Given the description of an element on the screen output the (x, y) to click on. 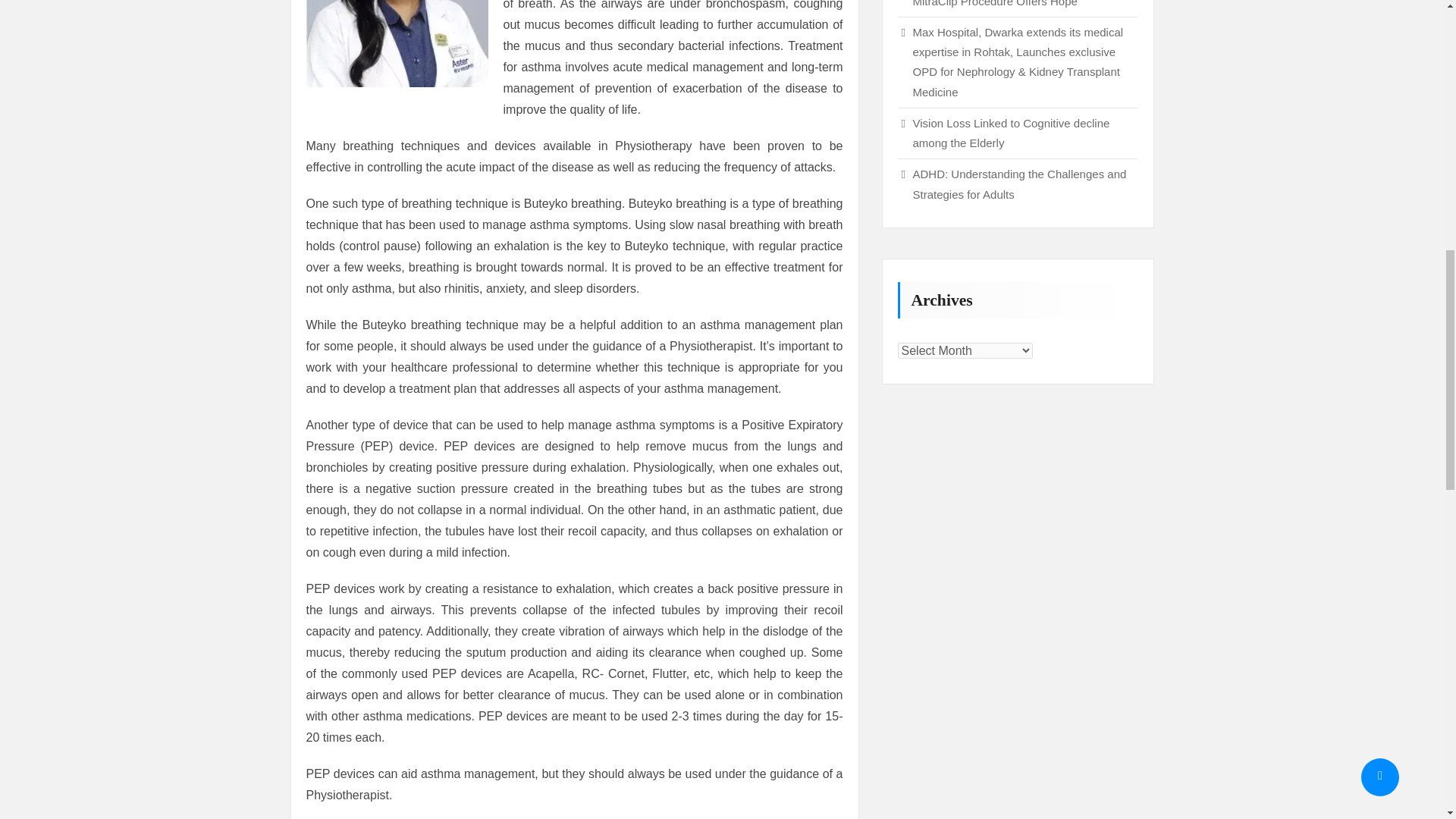
ADHD: Understanding the Challenges and Strategies for Adults (1019, 183)
Vision Loss Linked to Cognitive decline among the Elderly (1010, 133)
